Given the description of an element on the screen output the (x, y) to click on. 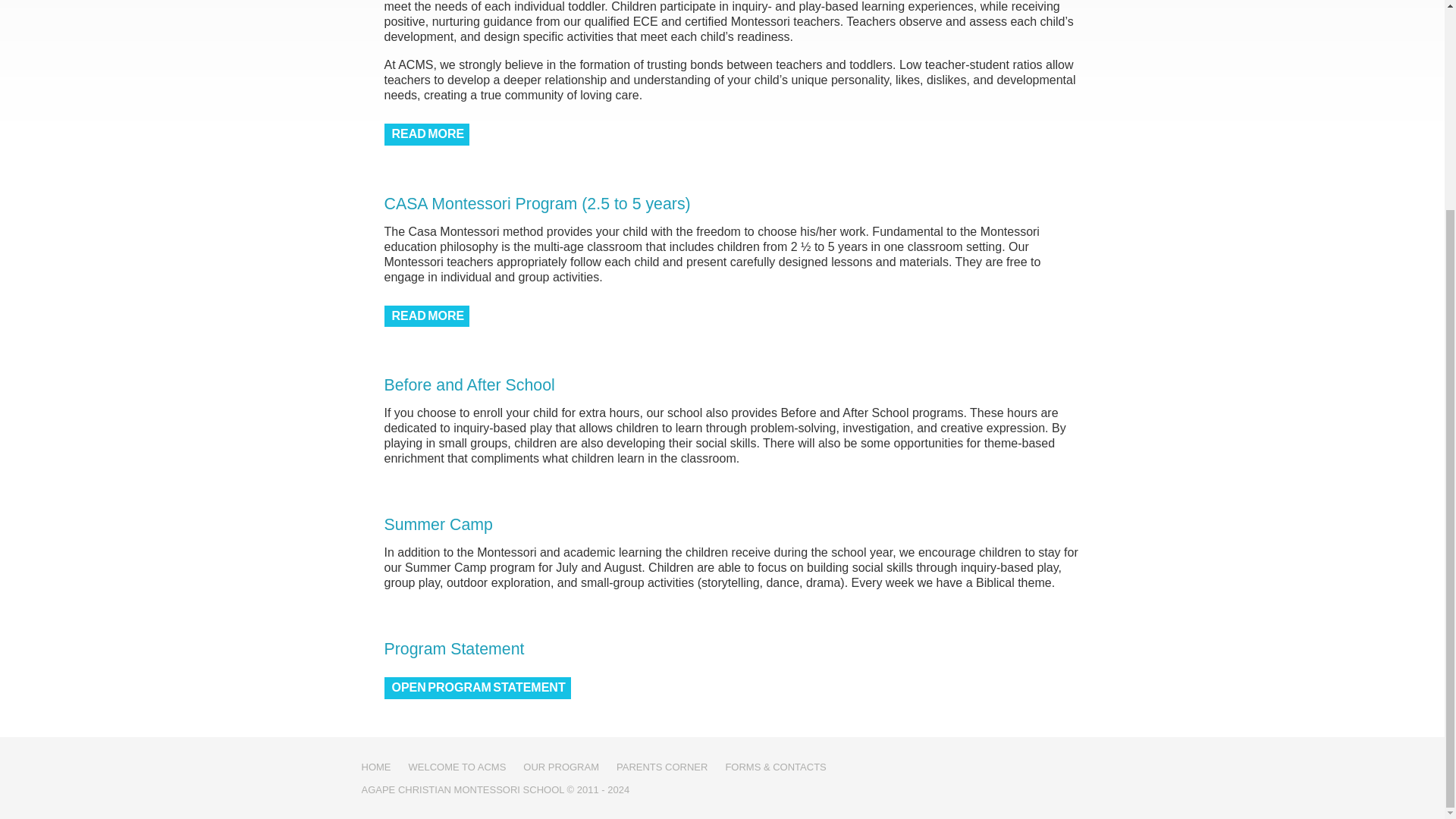
WELCOME TO ACMS (456, 766)
READ MORE (426, 316)
READ MORE (426, 134)
HOME (375, 766)
PARENTS CORNER (661, 766)
OUR PROGRAM (560, 766)
OPEN PROGRAM STATEMENT (477, 688)
